Given the description of an element on the screen output the (x, y) to click on. 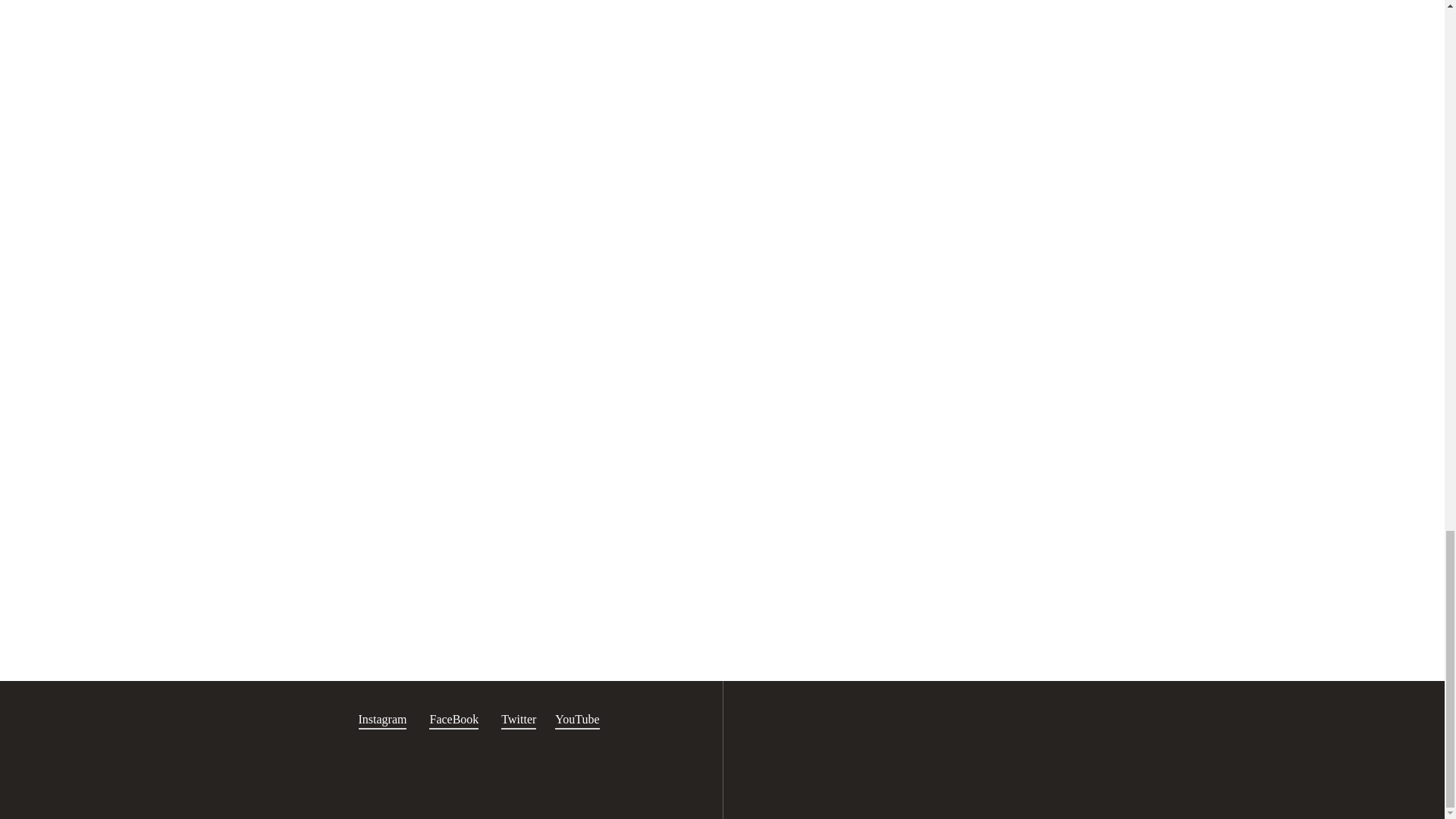
FaceBook (454, 719)
Twitter (517, 719)
YouTube (576, 719)
Instagram (382, 719)
